Given the description of an element on the screen output the (x, y) to click on. 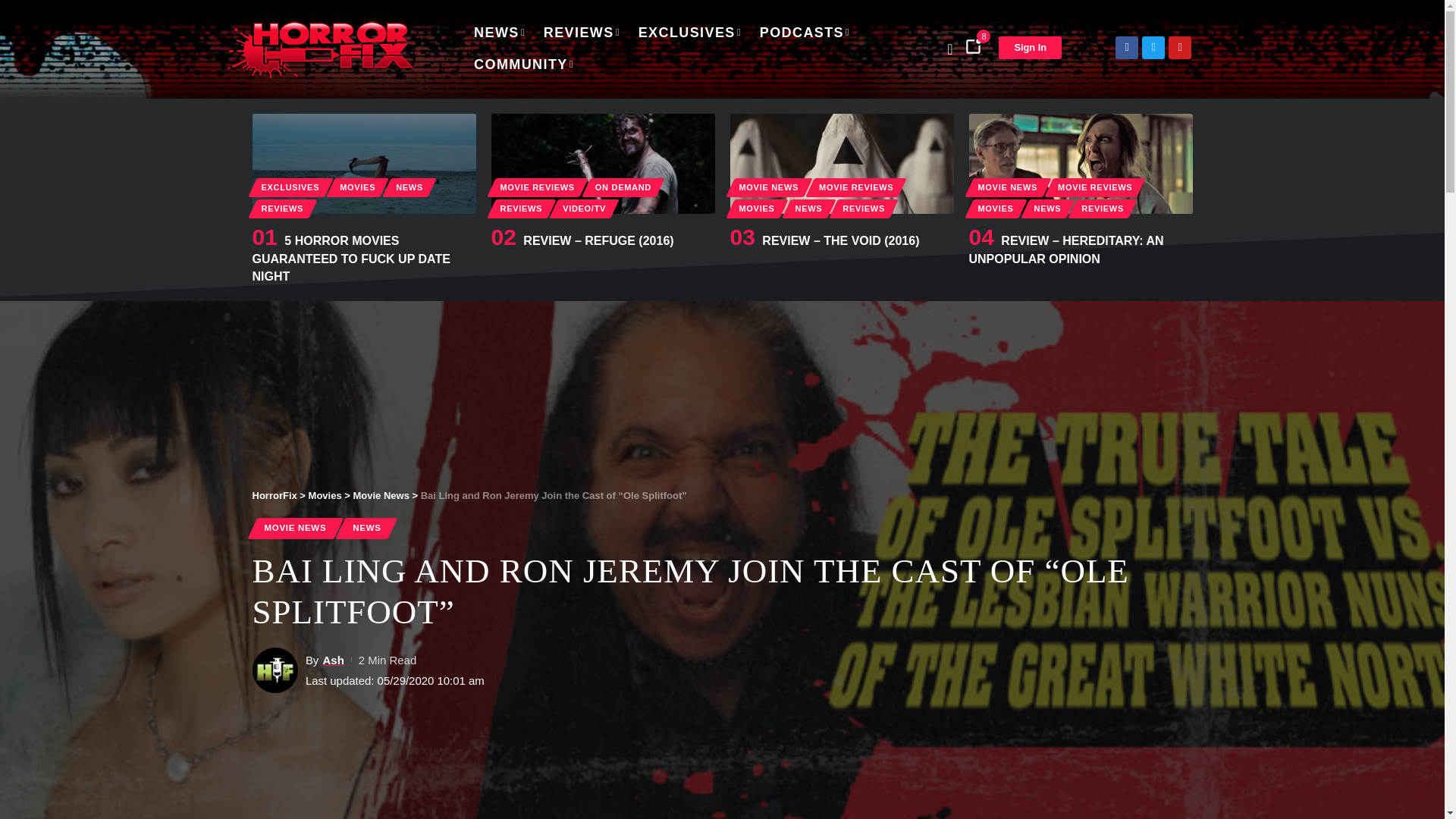
REVIEWS (581, 33)
EXCLUSIVES (689, 33)
PODCASTS (805, 33)
NEWS (499, 33)
